Given the description of an element on the screen output the (x, y) to click on. 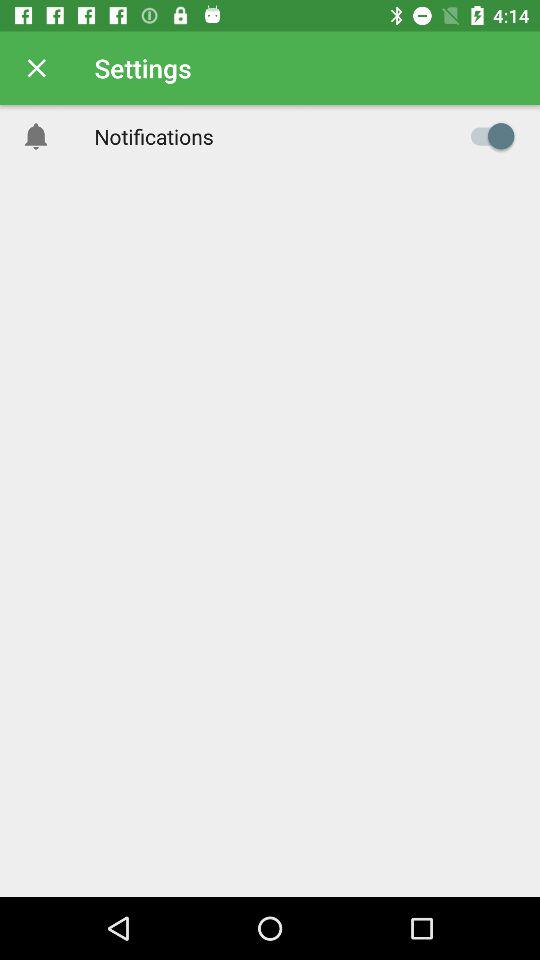
open item to the left of settings (36, 68)
